Given the description of an element on the screen output the (x, y) to click on. 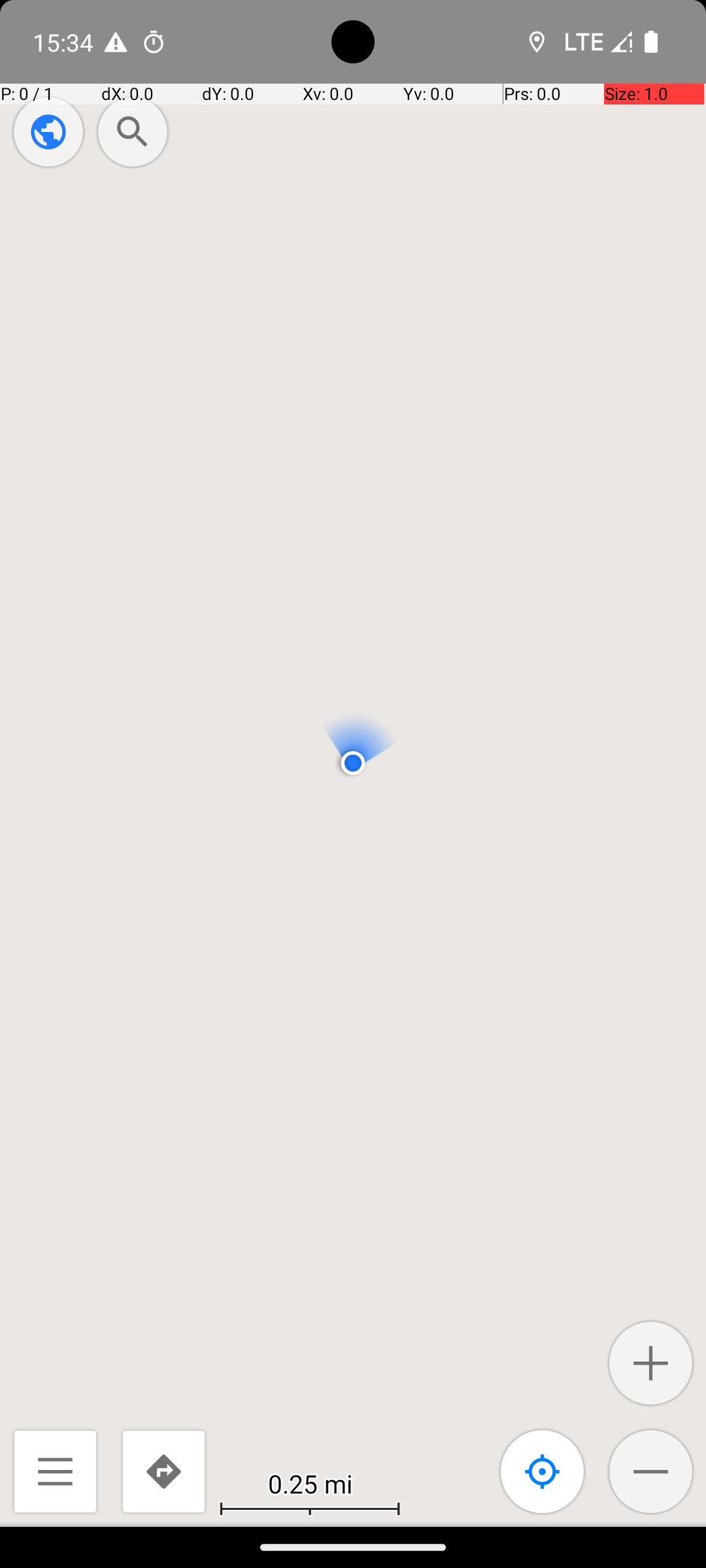
0.25 mi Element type: android.widget.TextView (309, 1483)
Map linked to location Element type: android.widget.ImageButton (542, 1471)
